Given the description of an element on the screen output the (x, y) to click on. 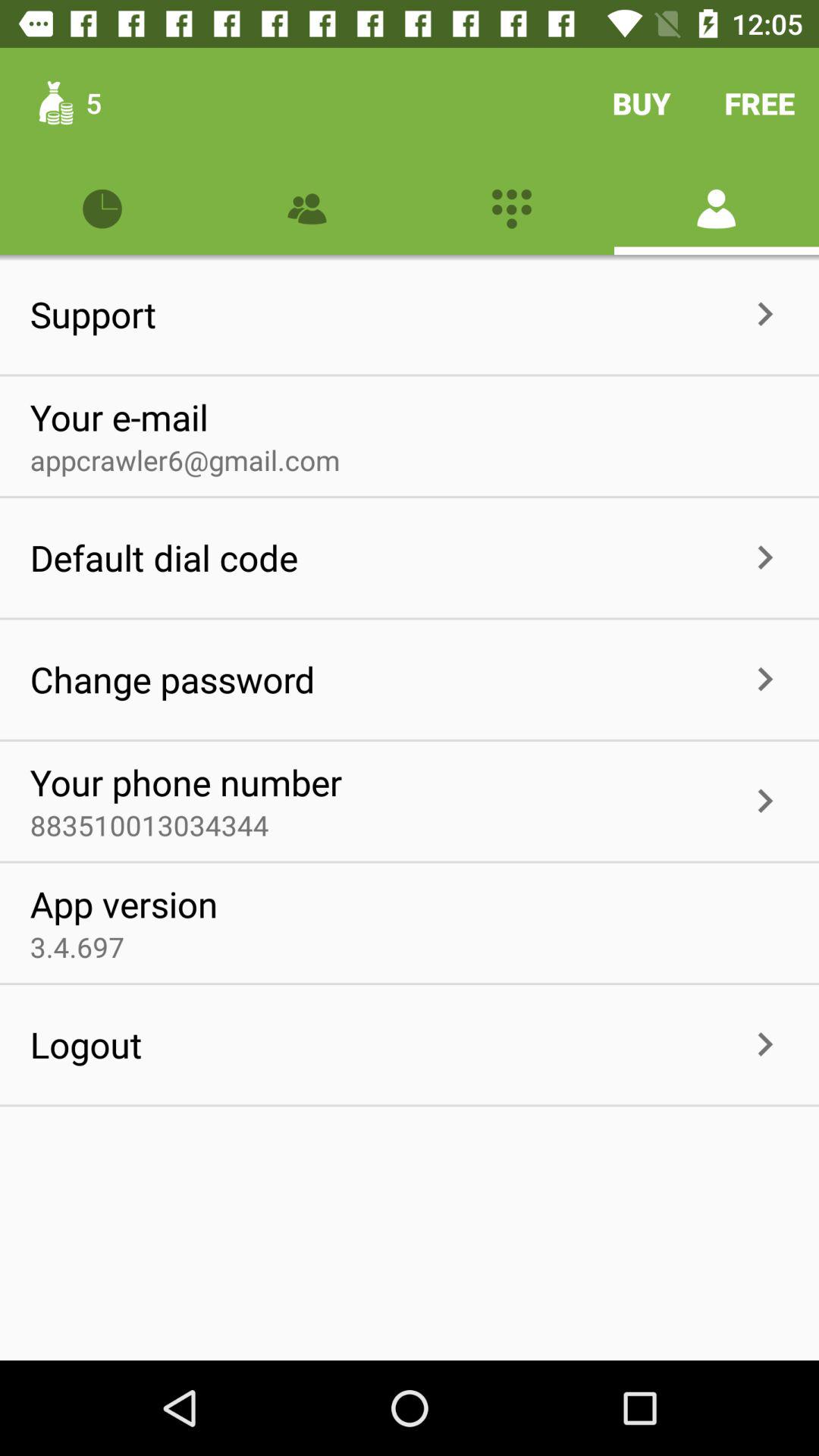
press icon above change password (164, 557)
